Given the description of an element on the screen output the (x, y) to click on. 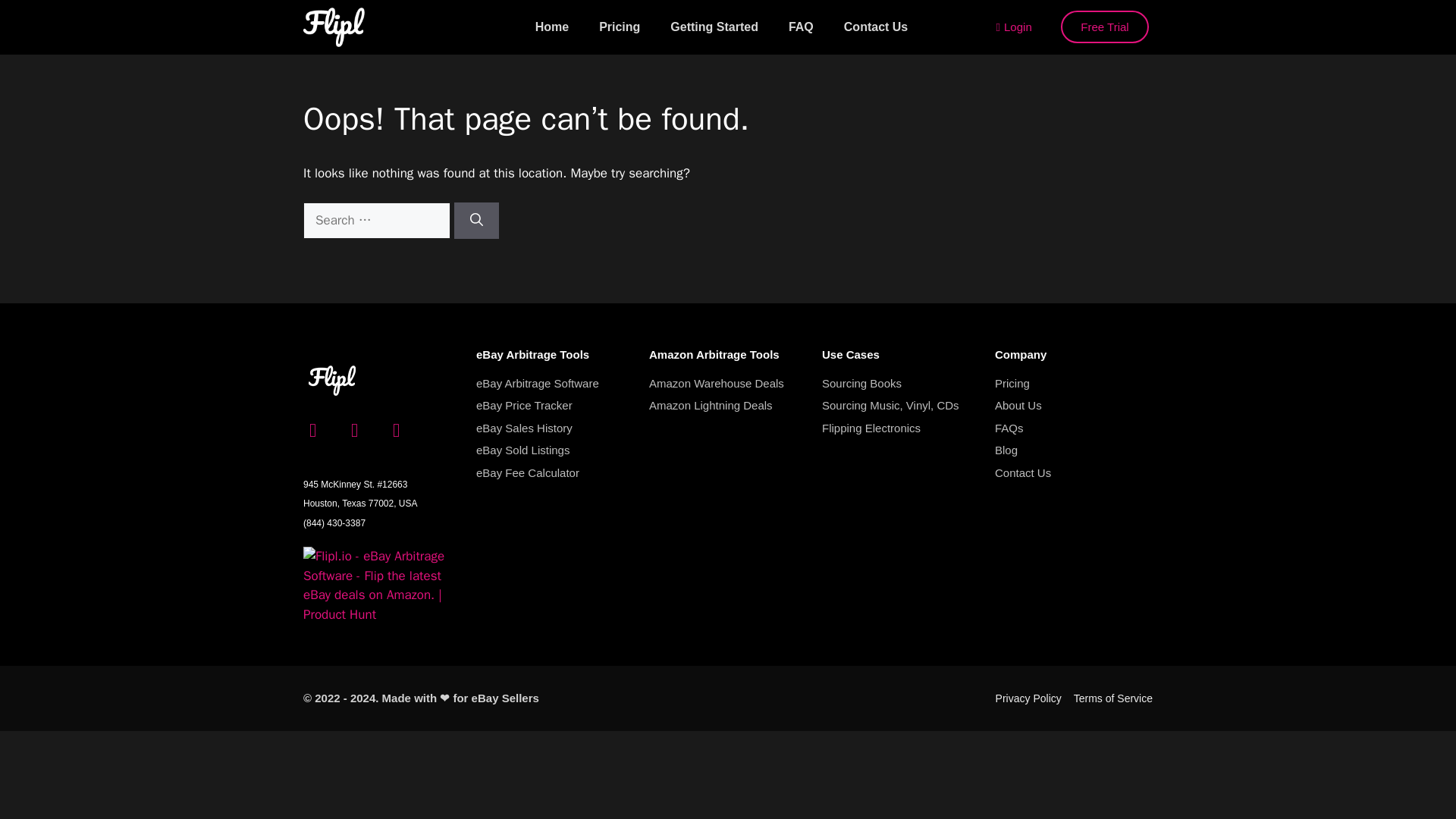
Home (551, 27)
eBay Sold Listings (554, 450)
Privacy Policy (1028, 698)
Amazon Warehouse Deals (727, 384)
Sourcing Books (900, 384)
Amazon Lightning Deals (727, 405)
Search for: (375, 220)
Blog (1073, 450)
FAQ (800, 27)
Getting Started (714, 27)
